Given the description of an element on the screen output the (x, y) to click on. 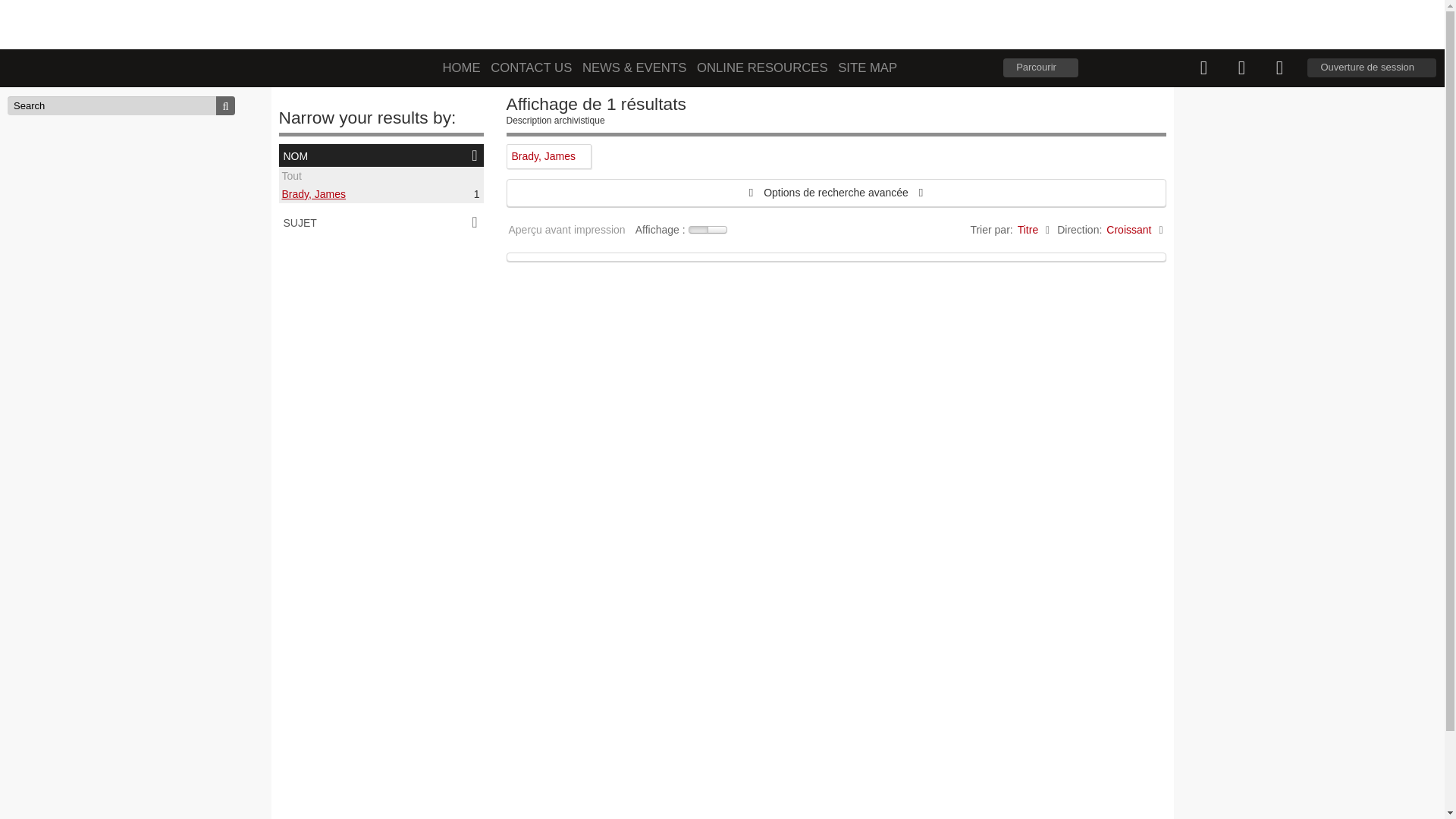
Presse-papier Element type: text (1203, 68)
SITE MAP Element type: text (867, 67)
Facebook Element type: text (631, 25)
Parcourir Element type: text (1040, 67)
ONLINE RESOURCES Element type: text (762, 67)
CONTACT US Element type: text (530, 67)
Langue Element type: text (1241, 68)
Tout Element type: text (291, 175)
sujet Element type: text (381, 221)
LinkedIn Element type: text (666, 25)
  Element type: hover (698, 229)
HOME Element type: text (461, 67)
Liens rapides Element type: text (1279, 68)
  Element type: hover (716, 229)
nom Element type: text (381, 155)
Archives Society of Alberta Element type: text (519, 22)
Ouverture de session Element type: text (1371, 67)
Brady, James Element type: text (314, 194)
NEWS & EVENTS Element type: text (634, 67)
